Given the description of an element on the screen output the (x, y) to click on. 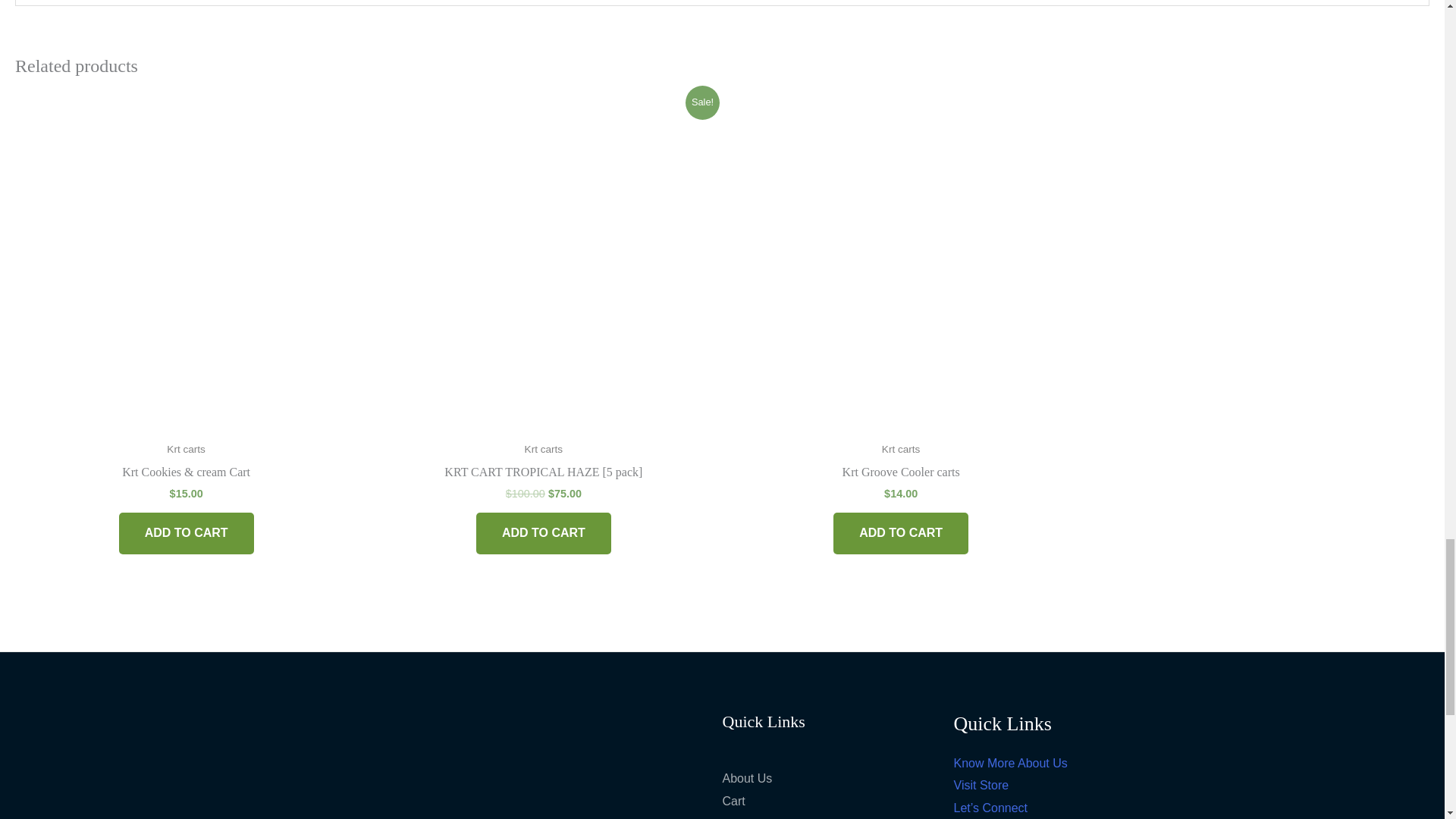
ADD TO CART (543, 533)
ADD TO CART (900, 533)
ADD TO CART (186, 533)
Krt Groove Cooler carts (900, 475)
